Given the description of an element on the screen output the (x, y) to click on. 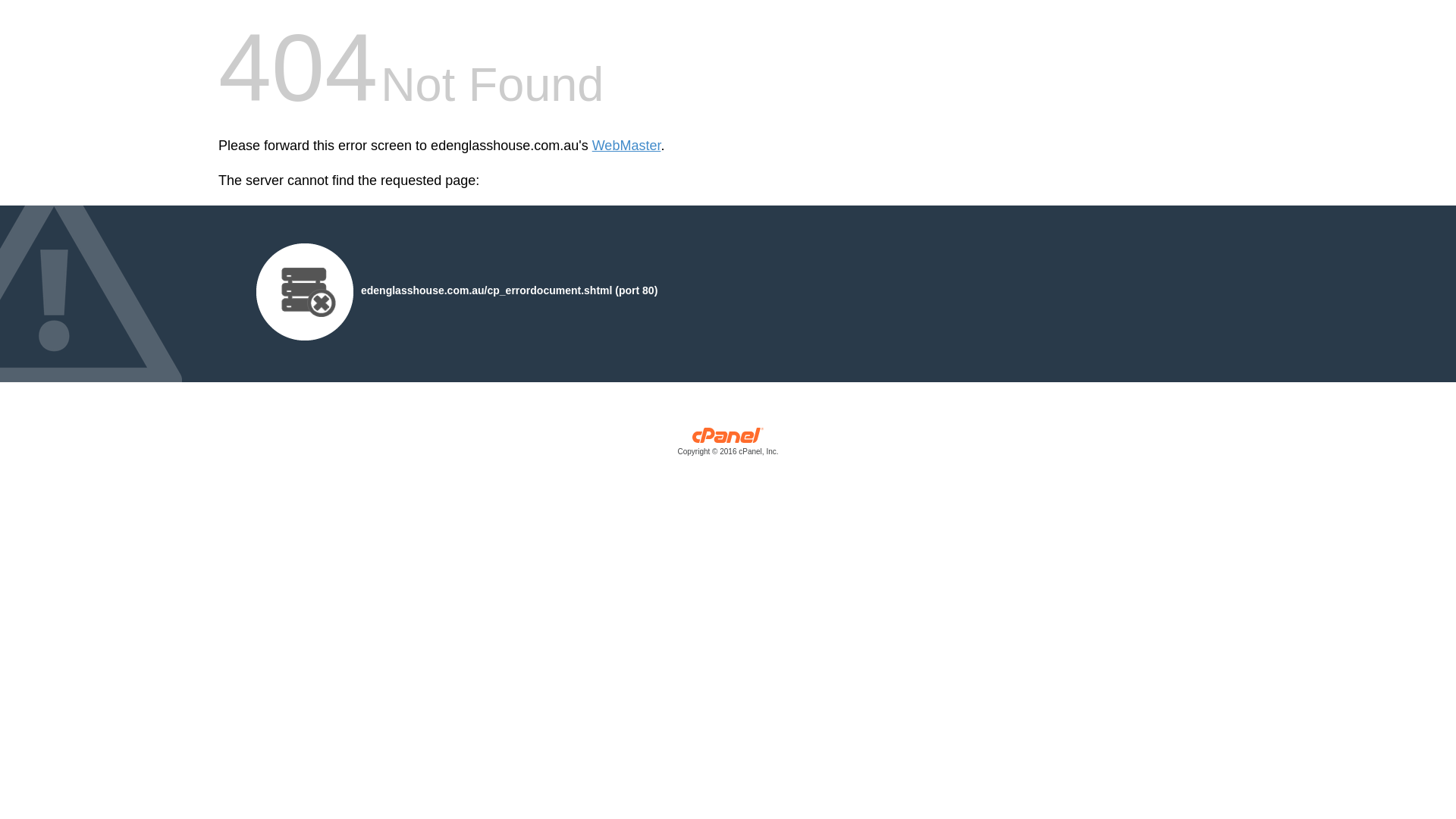
WebMaster Element type: text (626, 145)
